Given the description of an element on the screen output the (x, y) to click on. 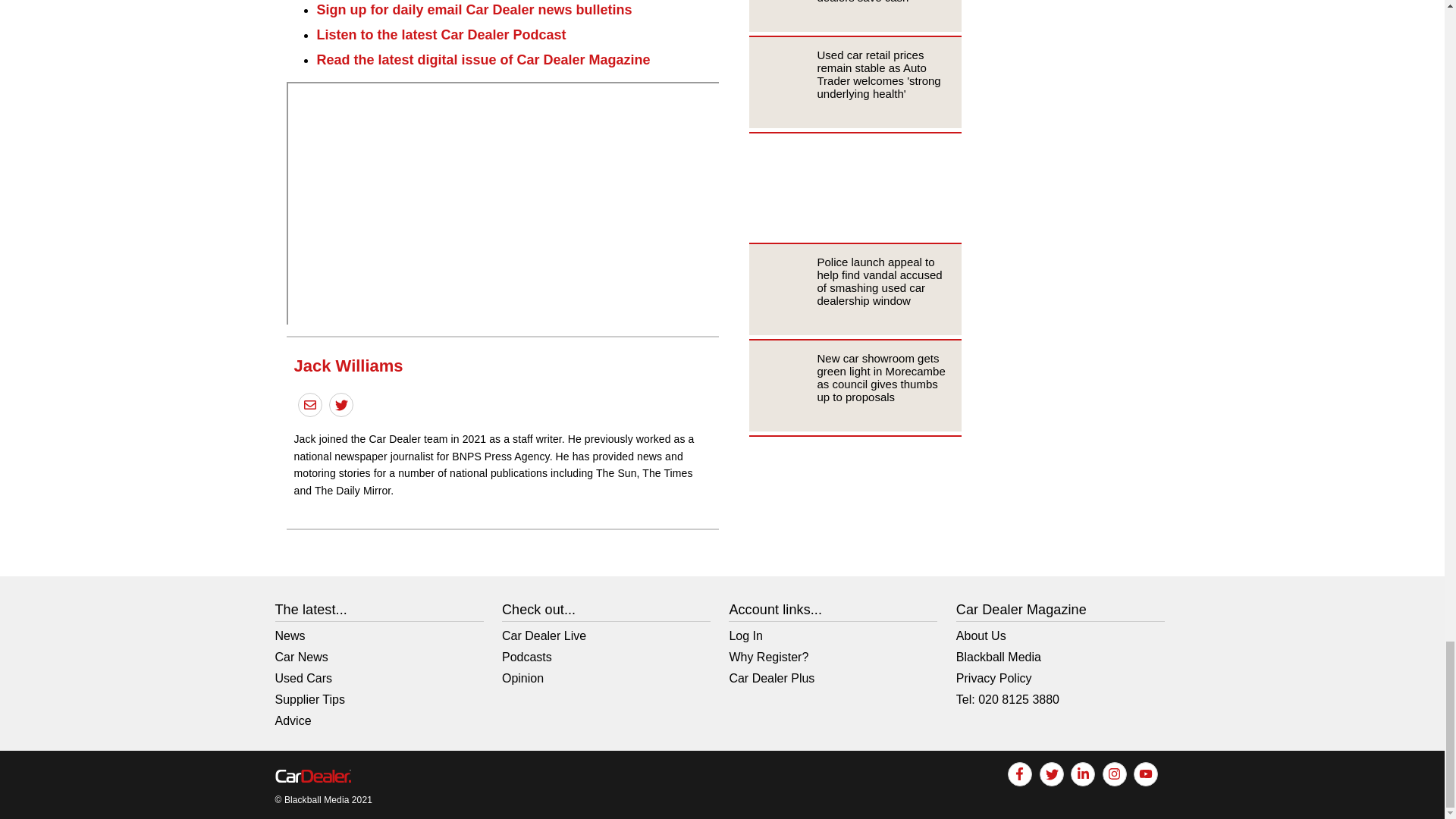
Posts by Jack Williams (348, 365)
